Given the description of an element on the screen output the (x, y) to click on. 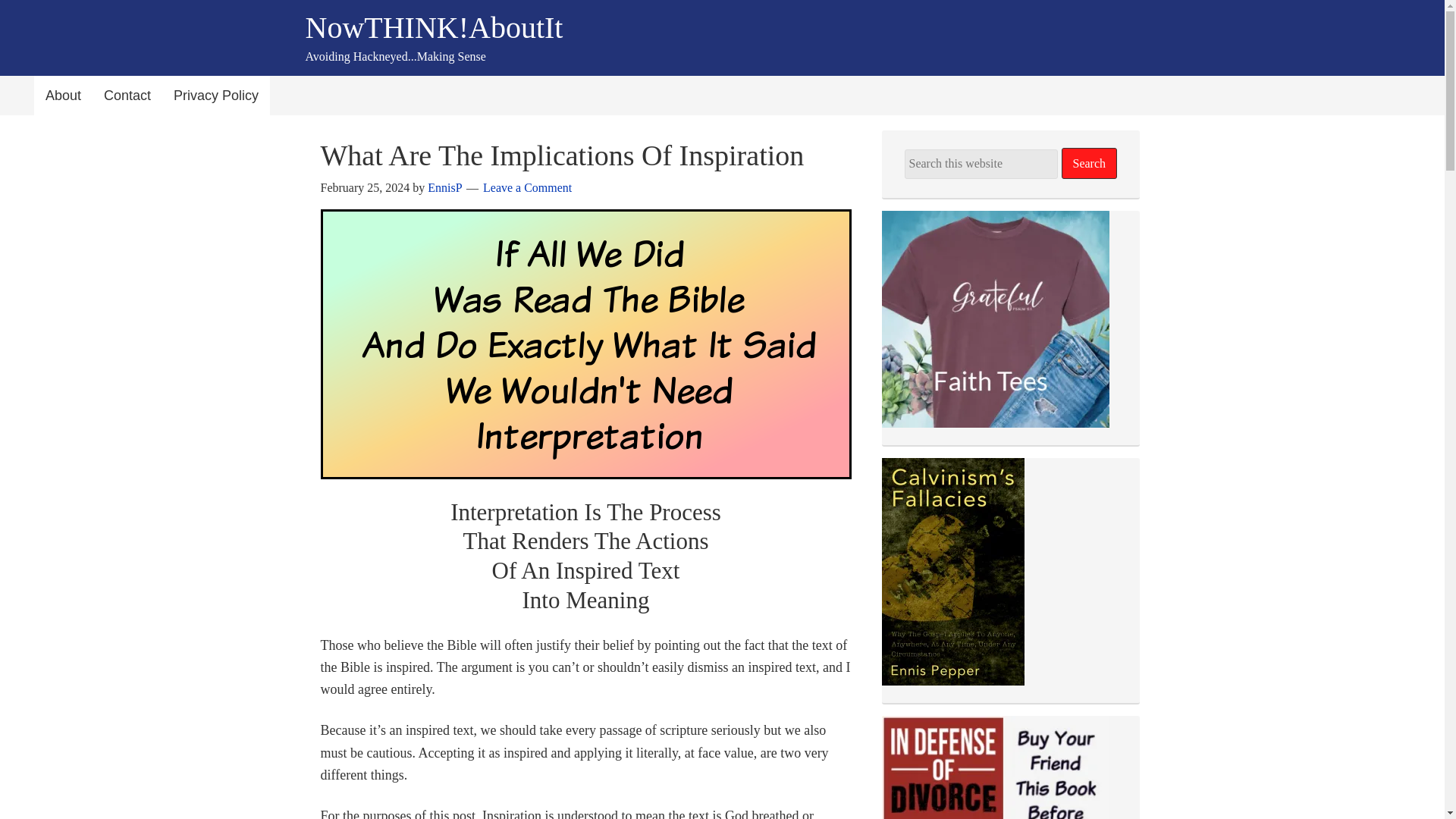
Leave a Comment (527, 186)
Contact (127, 95)
Search (1089, 163)
About (63, 95)
NowTHINK!AboutIt (433, 27)
Search (1089, 163)
EnnisP (444, 186)
Search (1089, 163)
Privacy Policy (215, 95)
